Given the description of an element on the screen output the (x, y) to click on. 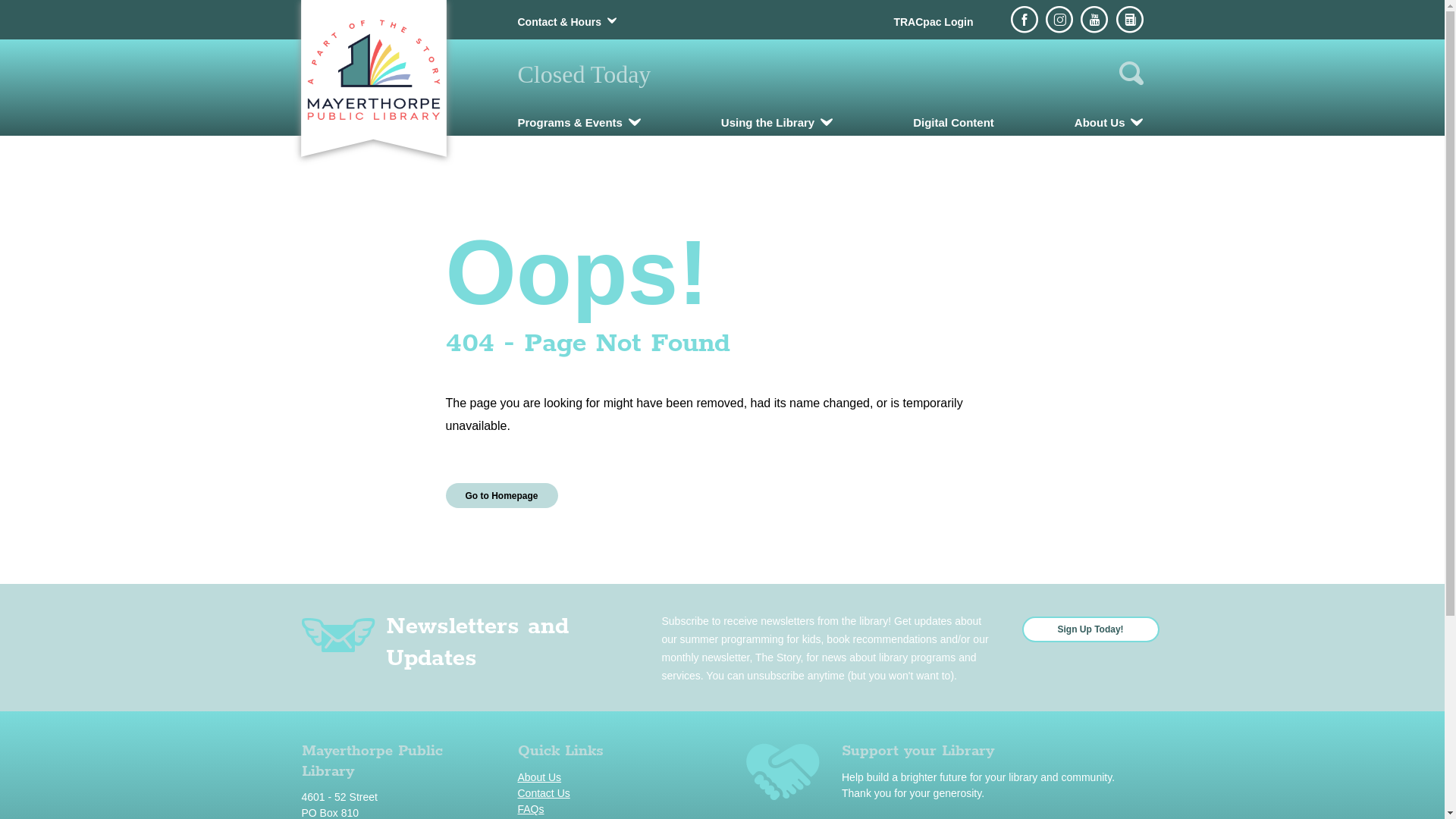
TRACpac Login Element type: text (932, 21)
Newsletter sign up Element type: hover (1129, 19)
Facebook Element type: hover (1024, 19)
Programs & Events Element type: text (578, 122)
About Us Element type: text (613, 777)
Contact & Hours Element type: text (558, 21)
About Us Element type: text (1108, 122)
Using the Library Element type: text (776, 122)
Contact Us Element type: text (613, 793)
Instagram Element type: hover (1059, 19)
Digital Content Element type: text (953, 122)
Sign Up Today! Element type: text (1090, 629)
Youtube Element type: hover (1093, 19)
FAQs Element type: text (613, 809)
Go to Homepage Element type: text (501, 495)
Mayerthorpe Public Library Element type: hover (372, 69)
